Given the description of an element on the screen output the (x, y) to click on. 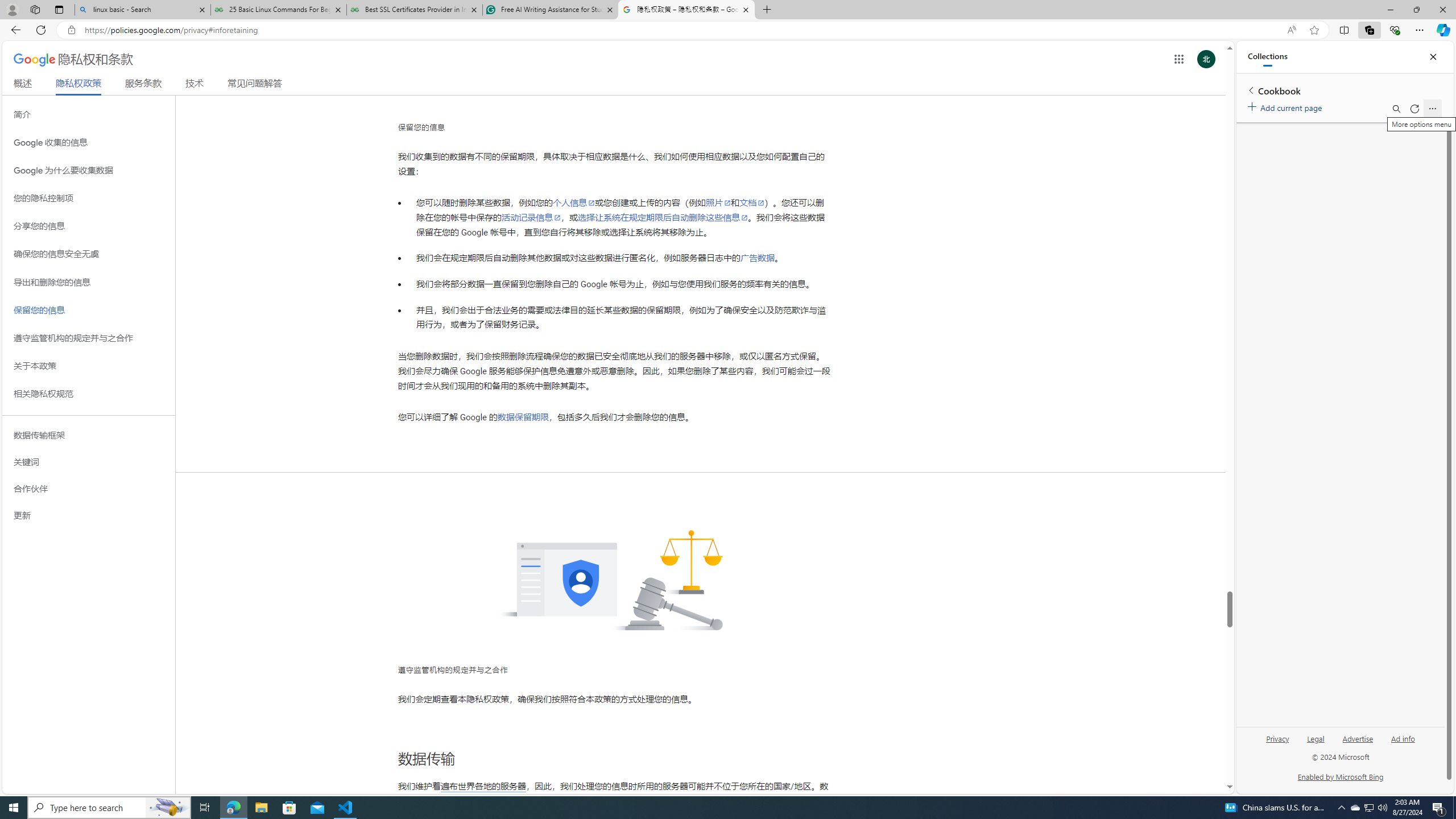
Best SSL Certificates Provider in India - GeeksforGeeks (414, 9)
More options menu (1432, 108)
